Given the description of an element on the screen output the (x, y) to click on. 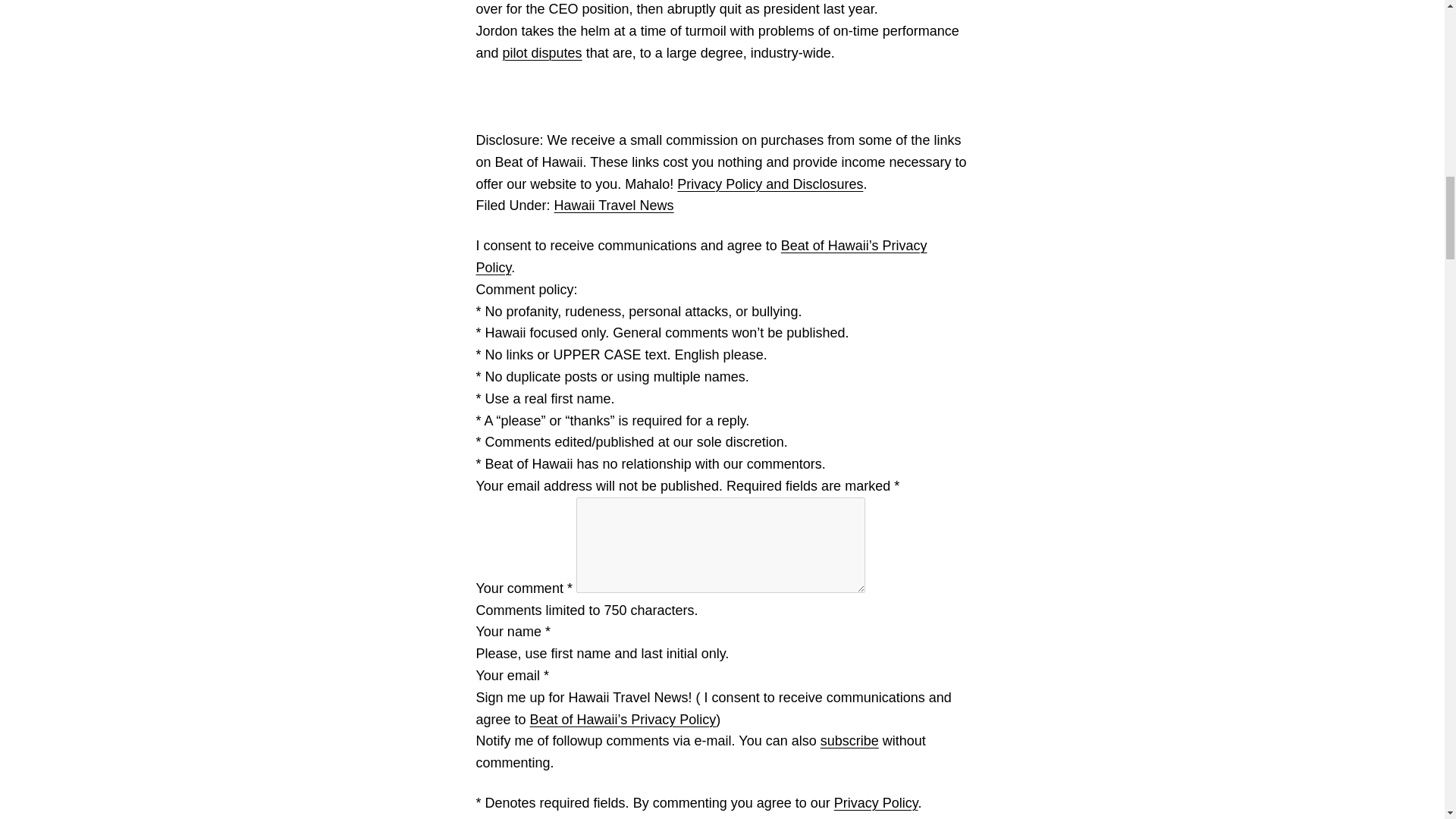
Beat of Hawaii Privacy Policy (701, 256)
Privacy Policy and Disclosures (770, 183)
subscribe (850, 740)
Hawaii Travel News (614, 205)
pilot disputes (542, 52)
Privacy Policy (876, 802)
Beat of Hawaii Privacy Policy (622, 719)
